Given the description of an element on the screen output the (x, y) to click on. 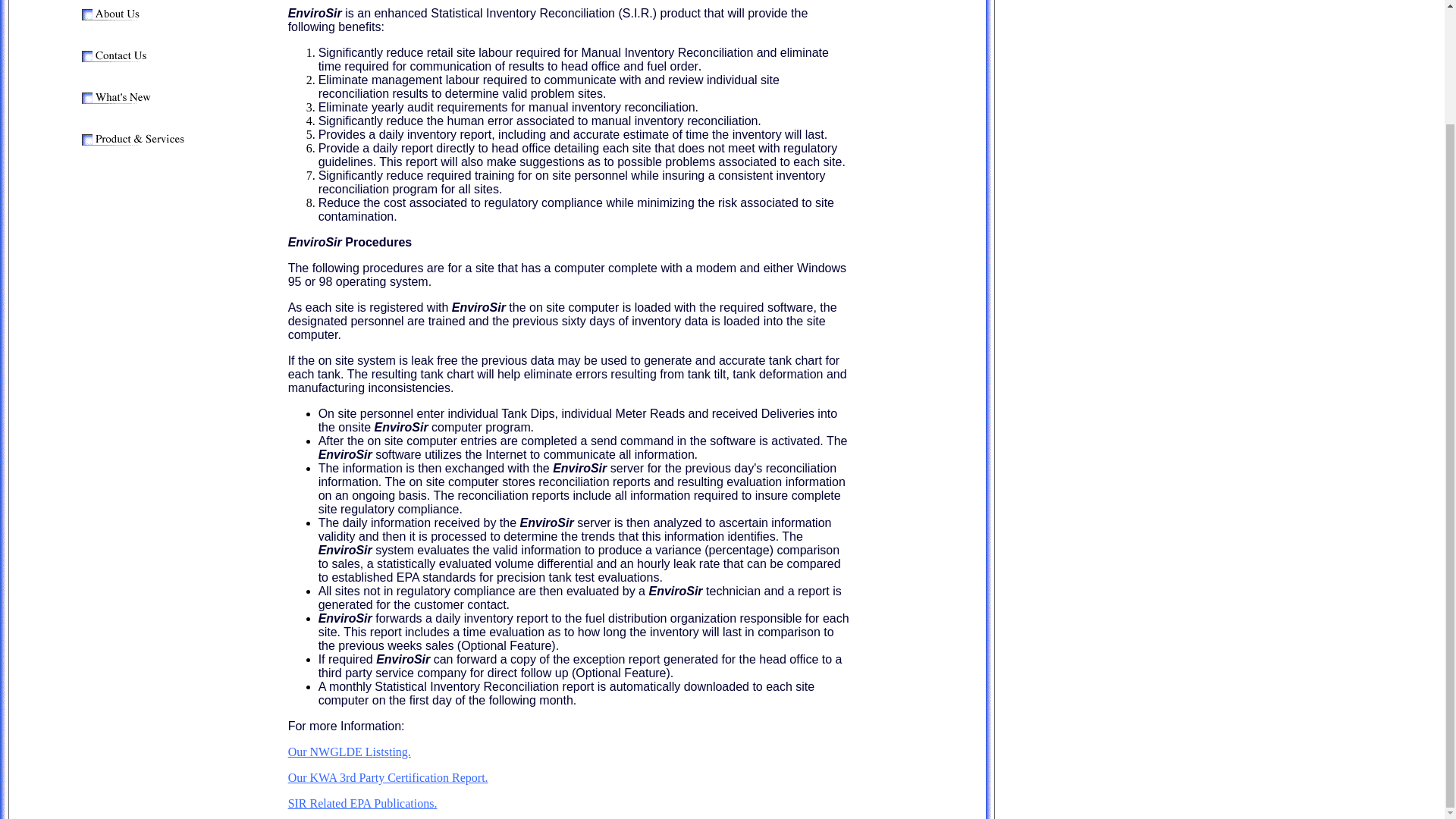
Our KWA 3rd Party Certification Report. (387, 777)
SIR Related EPA Publications. (363, 802)
Our NWGLDE Liststing. (349, 751)
